Given the description of an element on the screen output the (x, y) to click on. 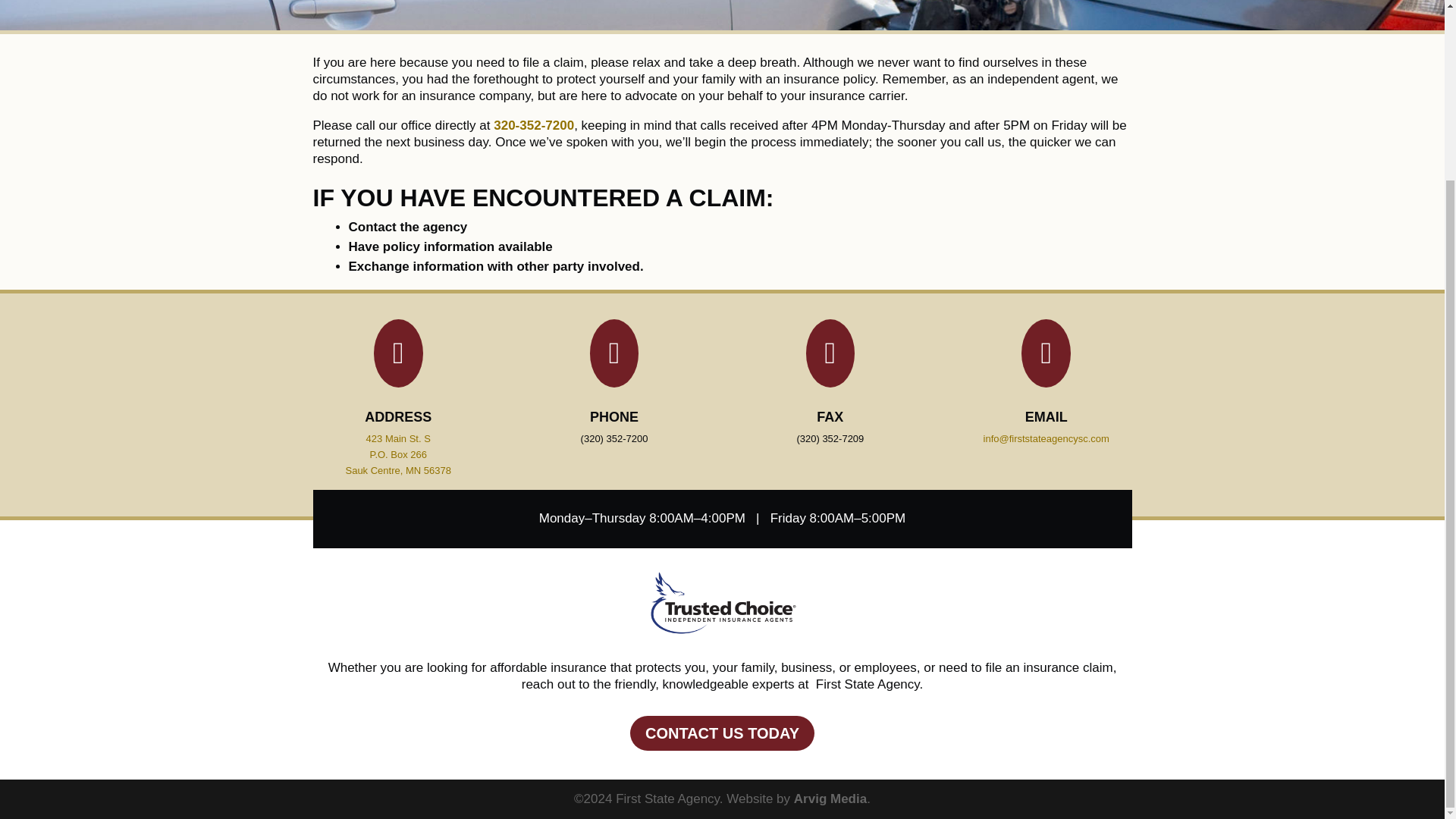
EMAIL (1046, 417)
320-352-7200 (533, 128)
P.O. Box 266 (397, 457)
PHONE (614, 418)
423 Main St. S (398, 442)
CONTACT US TODAY (721, 733)
Arvig Media (829, 798)
Sauk Centre, MN 56378 (397, 472)
